Given the description of an element on the screen output the (x, y) to click on. 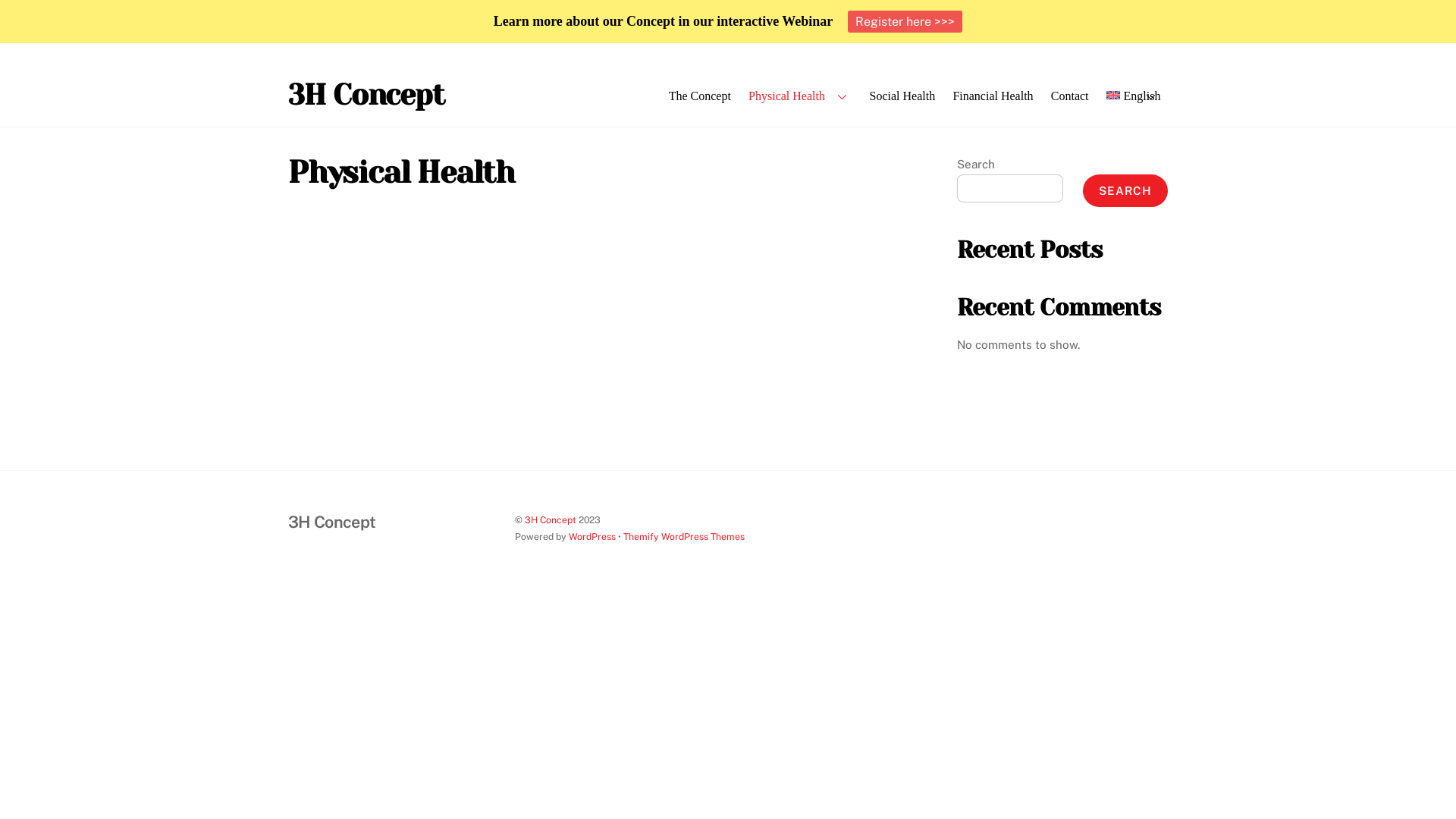
Themify WordPress Themes Element type: text (683, 536)
3H Concept Element type: text (550, 519)
Physical Health Element type: text (800, 95)
The Concept Element type: text (699, 95)
Contact Element type: text (1069, 95)
SEARCH Element type: text (1124, 190)
Social Health Element type: text (902, 95)
Financial Health Element type: text (992, 95)
Register here >>> Element type: text (904, 21)
3H Concept Element type: text (332, 521)
3H Concept Element type: text (366, 94)
English Element type: text (1132, 95)
WordPress Element type: text (591, 536)
